Given the description of an element on the screen output the (x, y) to click on. 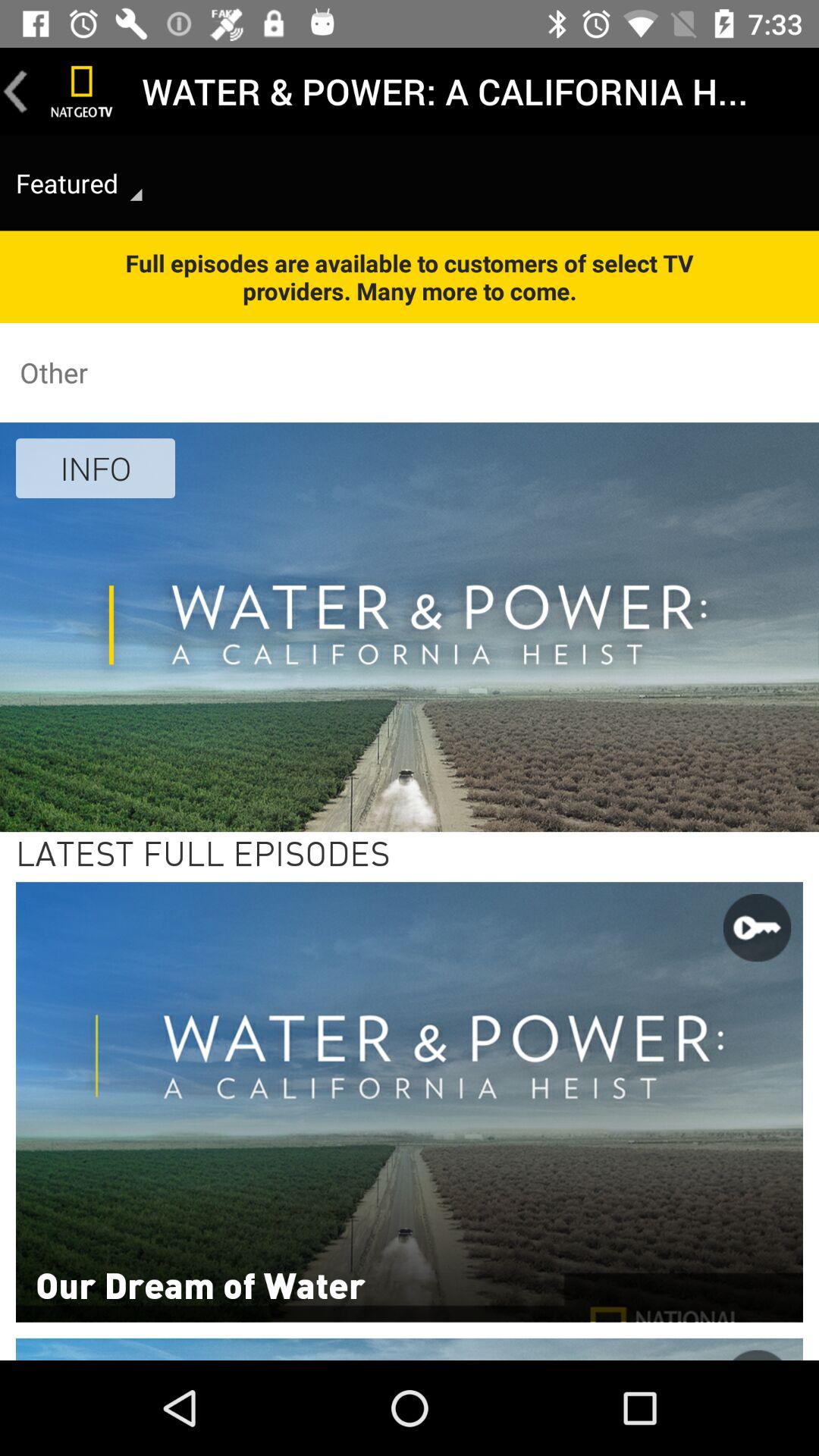
jump until info icon (95, 468)
